Given the description of an element on the screen output the (x, y) to click on. 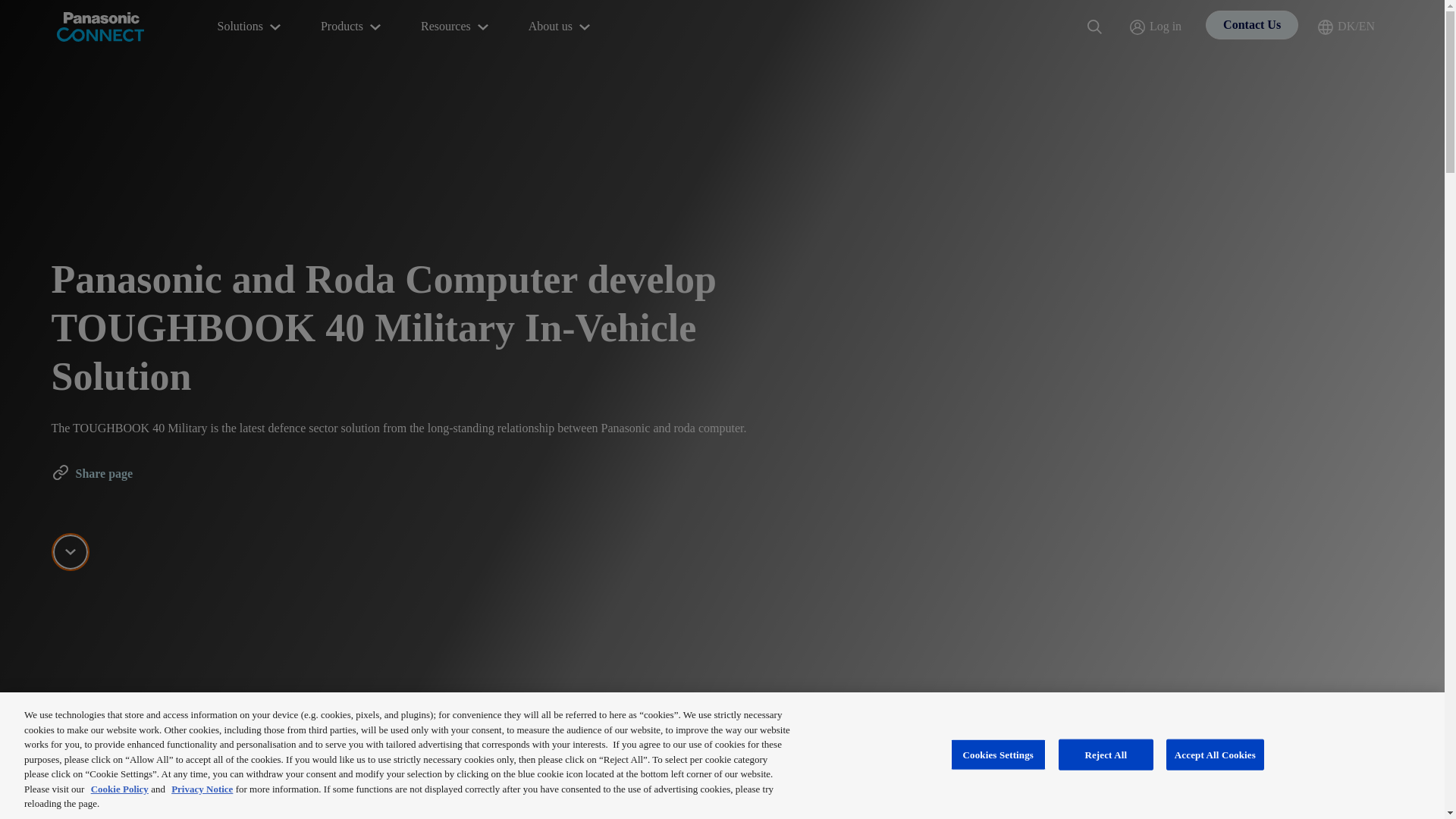
Products (352, 26)
Resources (455, 26)
Solutions (250, 26)
